Given the description of an element on the screen output the (x, y) to click on. 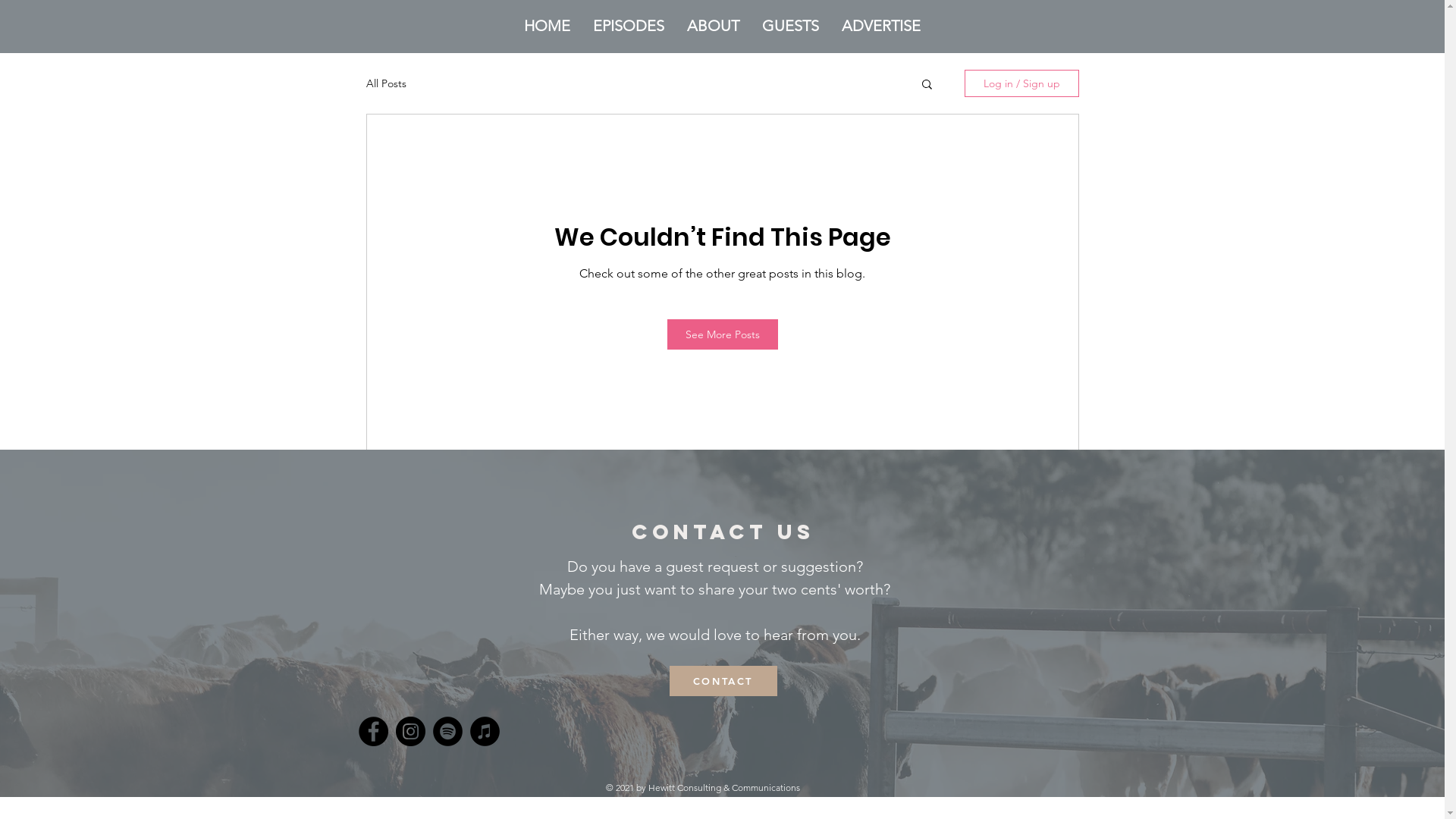
ABOUT Element type: text (712, 26)
HOME Element type: text (546, 26)
CONTACT Element type: text (722, 680)
GUESTS Element type: text (790, 26)
Log in / Sign up Element type: text (1021, 83)
EPISODES Element type: text (628, 26)
See More Posts Element type: text (722, 334)
All Posts Element type: text (385, 83)
ADVERTISE Element type: text (880, 26)
